Given the description of an element on the screen output the (x, y) to click on. 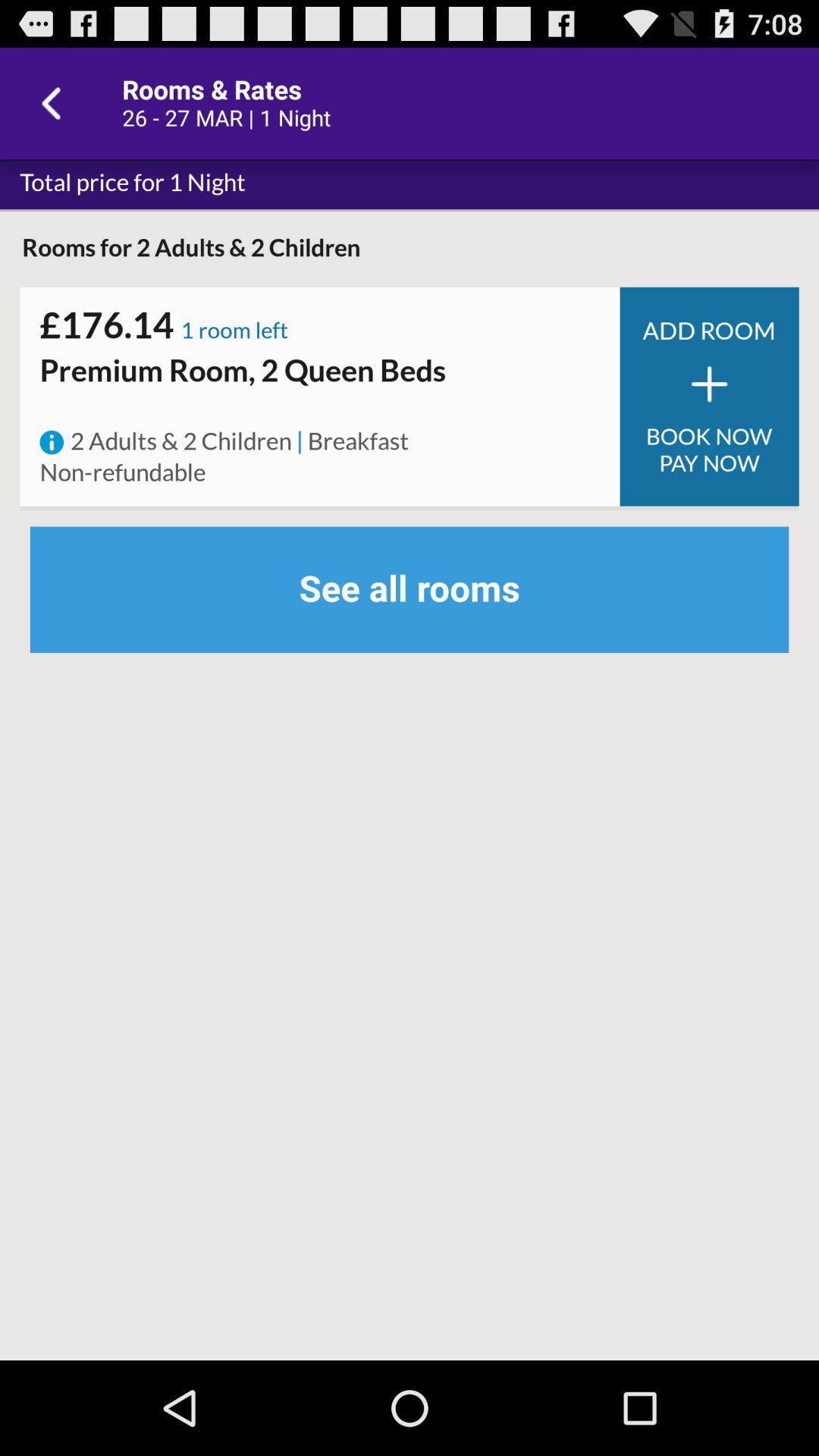
choose the non-refundable item (122, 473)
